Given the description of an element on the screen output the (x, y) to click on. 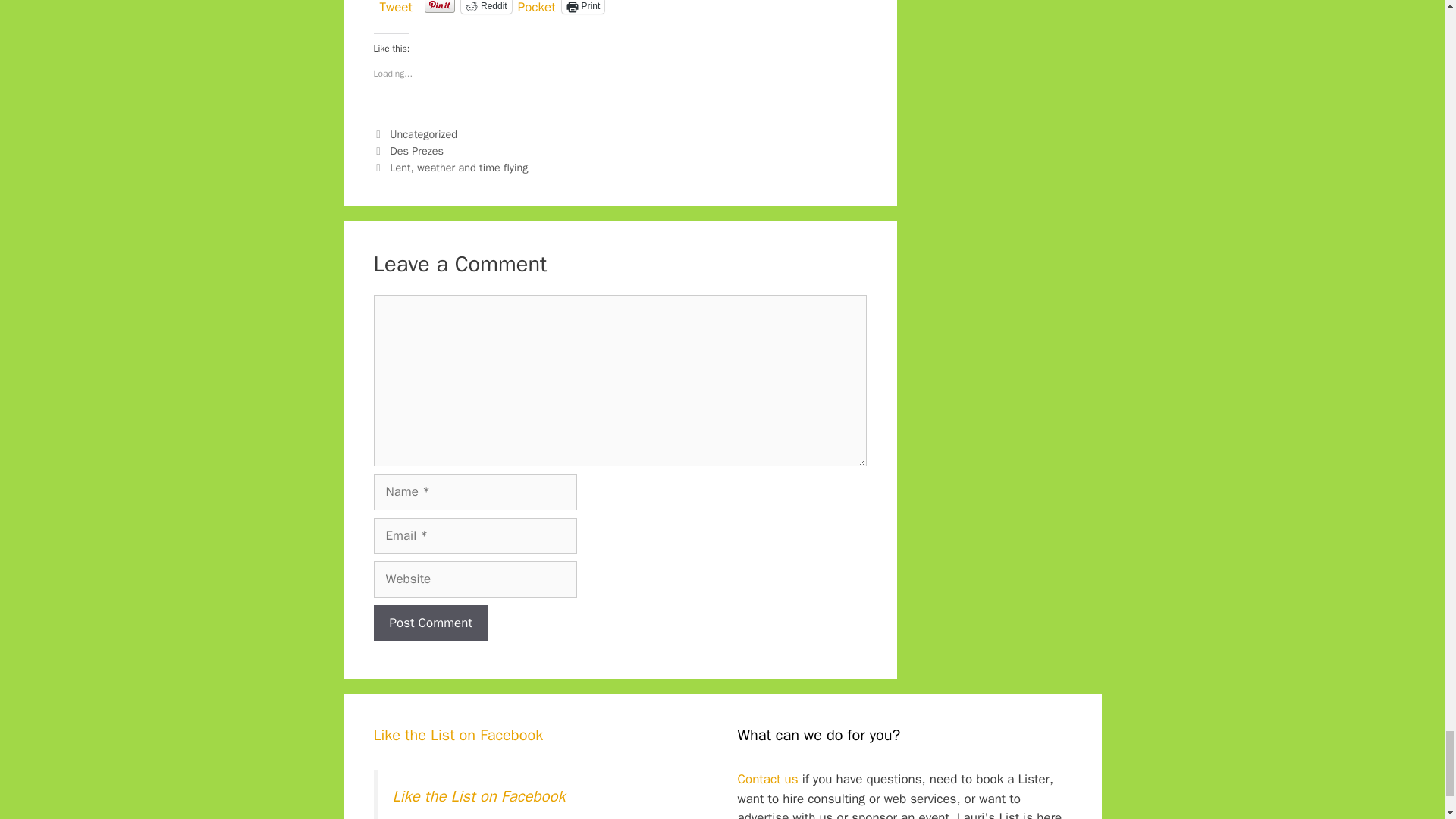
Click to share on Reddit (486, 6)
Post Comment (429, 623)
Click to print (583, 6)
